Given the description of an element on the screen output the (x, y) to click on. 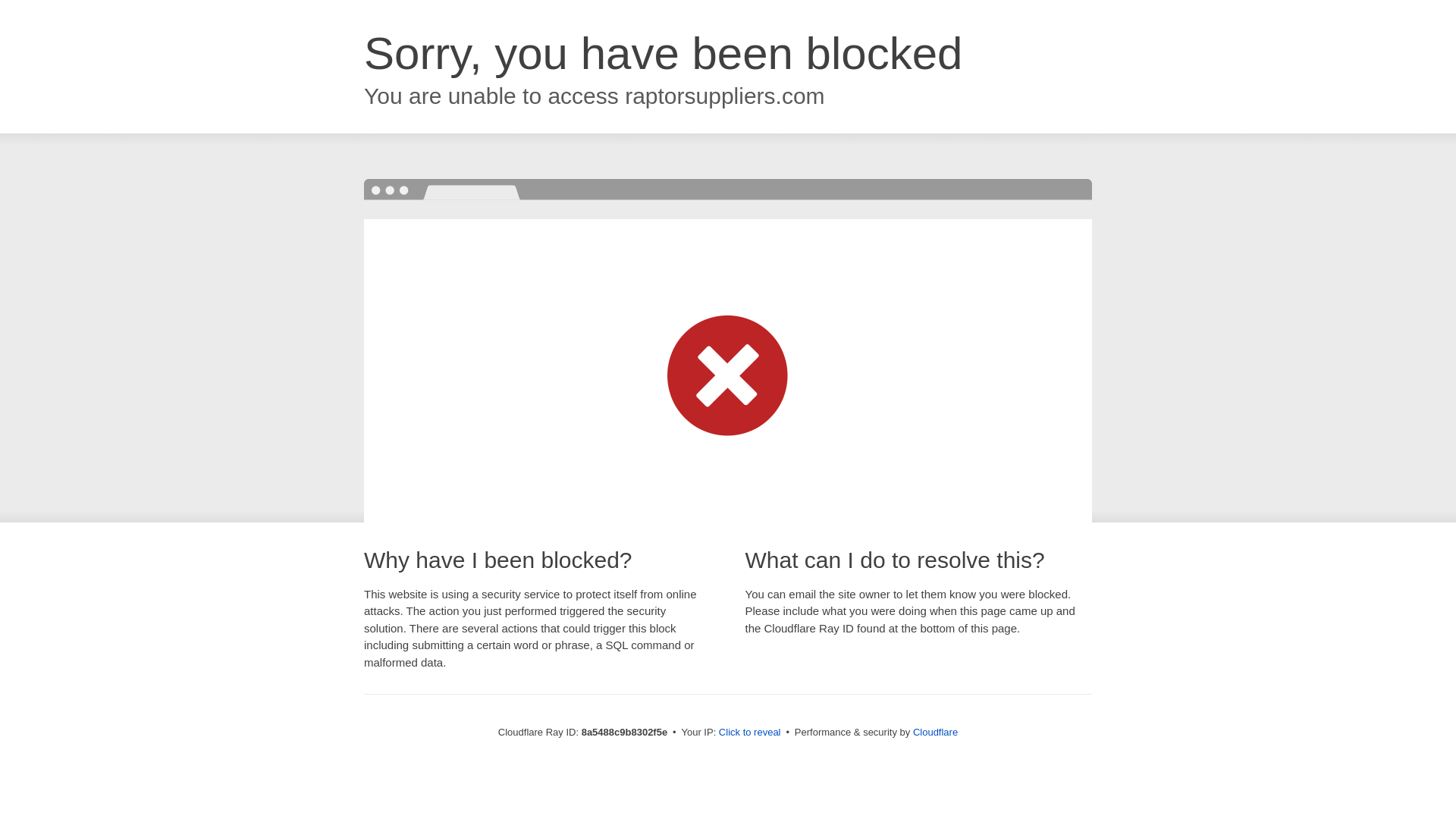
Click to reveal (749, 732)
Cloudflare (935, 731)
